Given the description of an element on the screen output the (x, y) to click on. 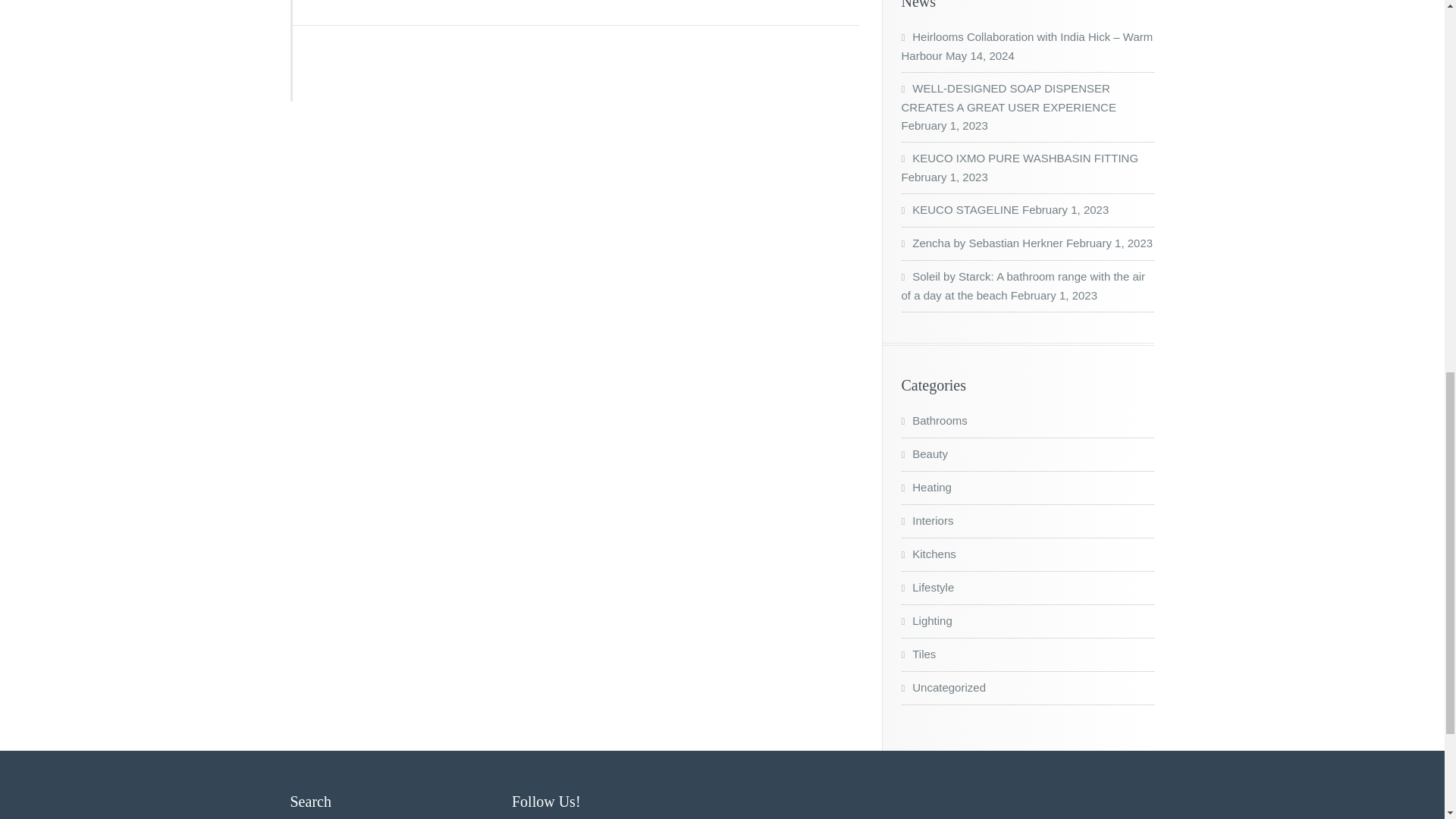
KEUCO IXMO PURE WASHBASIN FITTING (1019, 157)
WELL-DESIGNED SOAP DISPENSER CREATES A GREAT USER EXPERIENCE (1008, 97)
Heating (925, 486)
Zencha by Sebastian Herkner (981, 242)
Beauty (924, 453)
Bathrooms (933, 420)
KEUCO STAGELINE (959, 209)
